Given the description of an element on the screen output the (x, y) to click on. 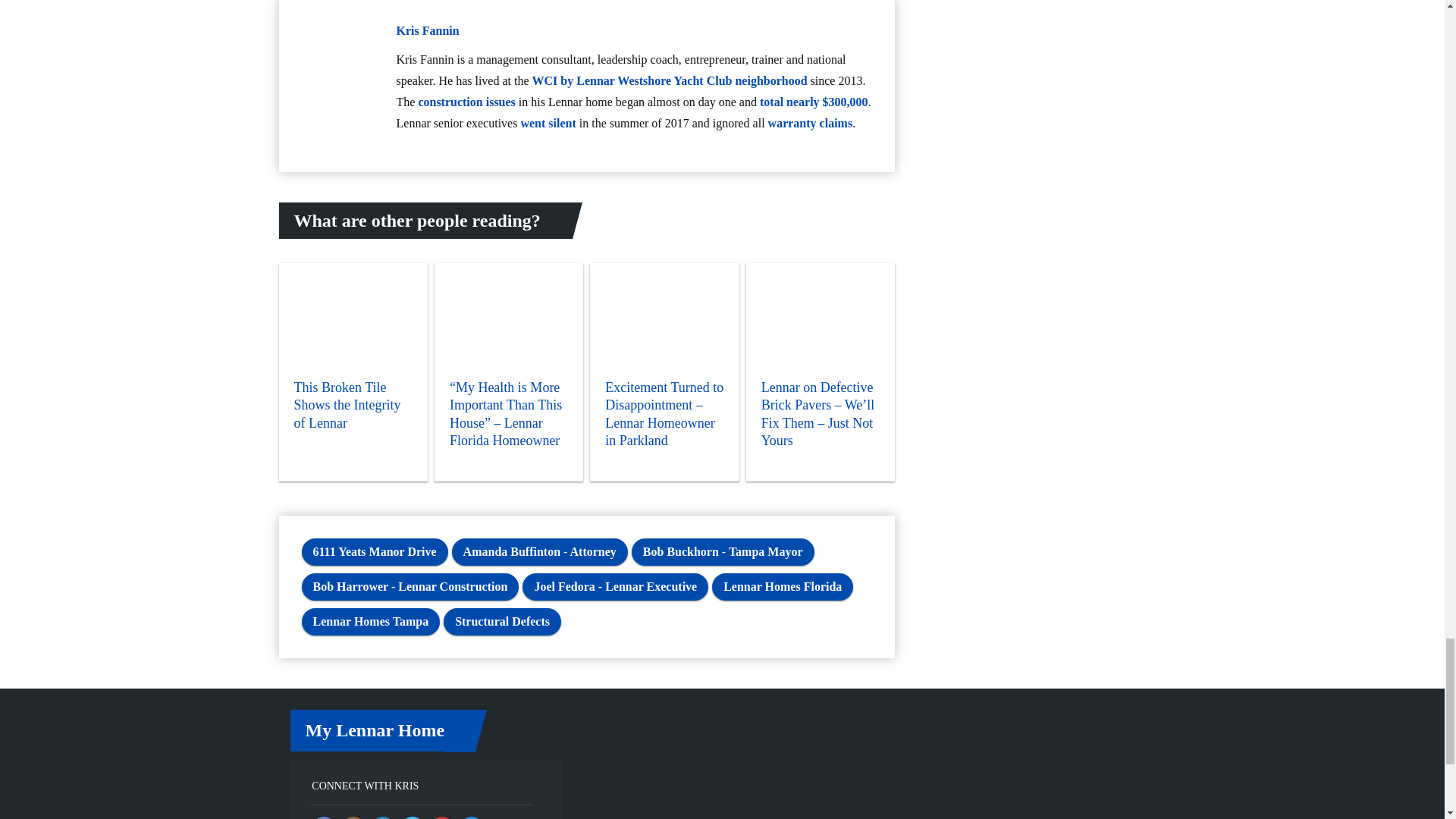
LinkedIn (382, 817)
YouTube (441, 817)
Facebook (323, 817)
Twitter (412, 817)
Email (471, 817)
Instagram (352, 817)
